Given the description of an element on the screen output the (x, y) to click on. 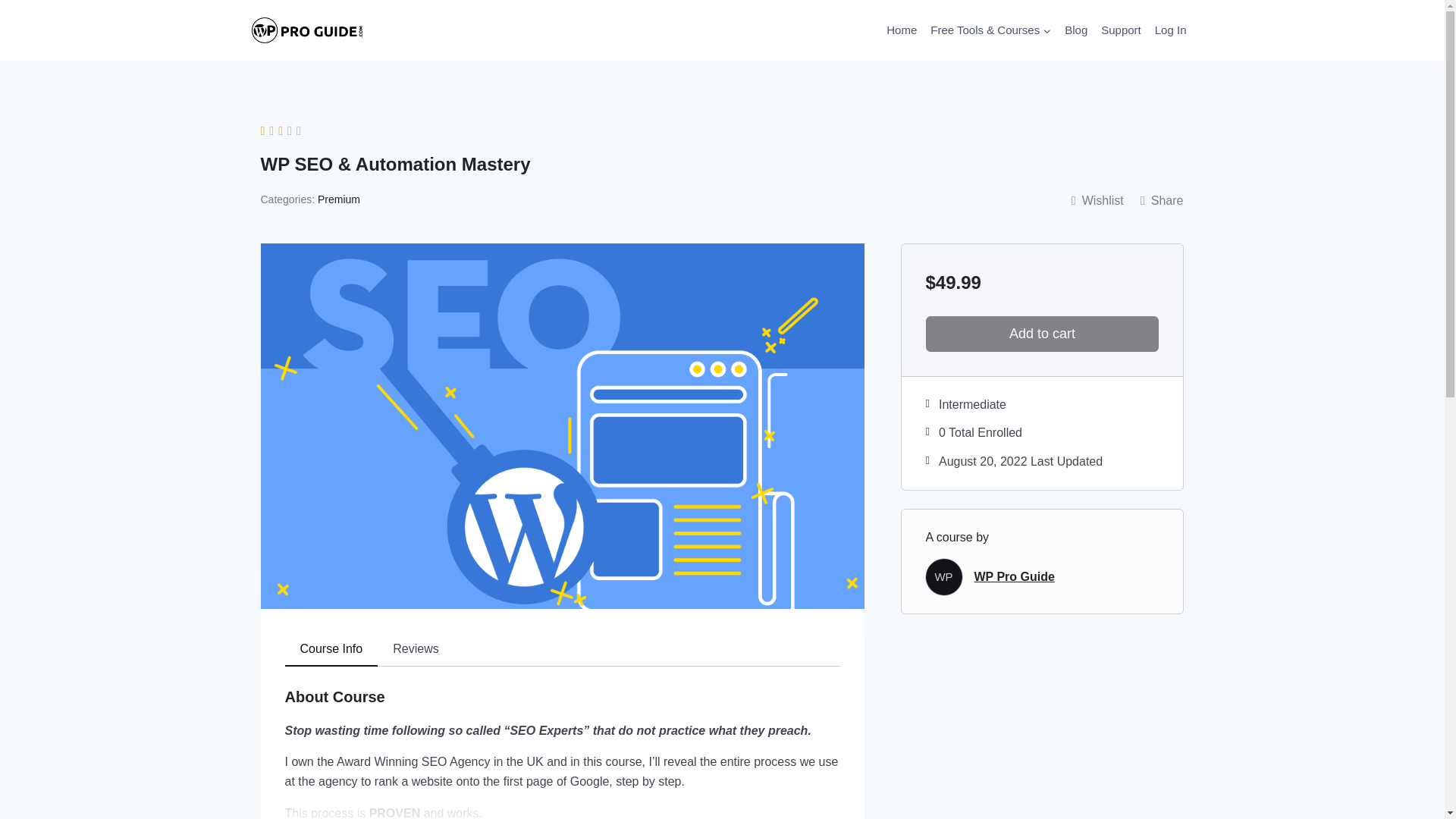
Premium (338, 199)
Log In (1170, 29)
Add to cart (1041, 334)
Support (1121, 29)
Wishlist (1097, 200)
WP Pro Guide (1014, 576)
Home (901, 29)
Share (1162, 200)
Course Info (331, 649)
Reviews (414, 649)
